Given the description of an element on the screen output the (x, y) to click on. 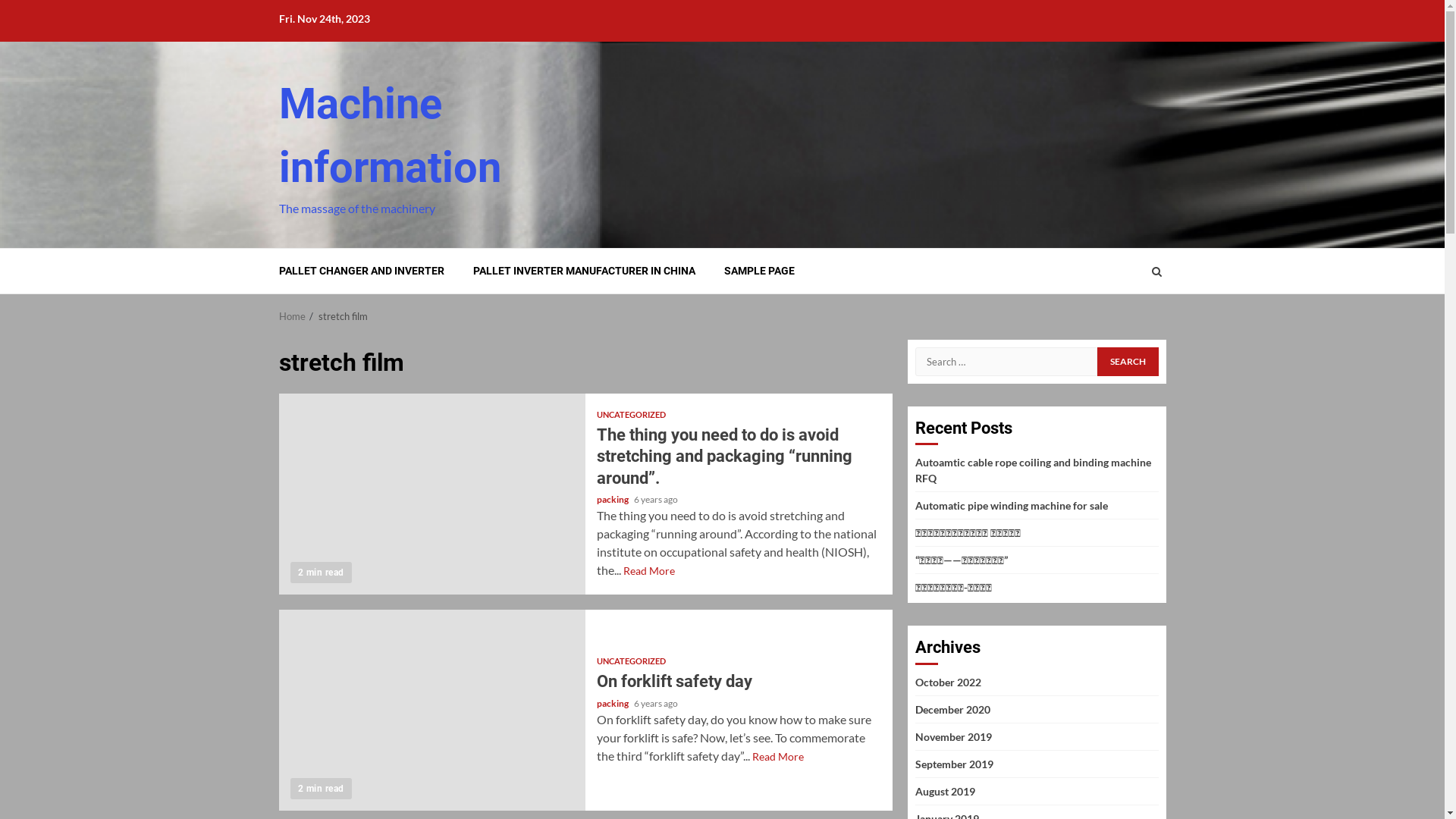
September 2019 Element type: text (953, 763)
packing Element type: text (613, 499)
Machine information Element type: text (390, 135)
Home Element type: text (292, 316)
On forklift safety day Element type: text (674, 680)
Search Element type: text (1127, 361)
On forklift safety day Element type: text (432, 709)
Read More Element type: text (648, 570)
Search Element type: text (1126, 316)
October 2022 Element type: text (947, 681)
Read More Element type: text (777, 755)
SAMPLE PAGE Element type: text (758, 270)
Autoamtic cable rope coiling and binding machine RFQ Element type: text (1032, 469)
December 2020 Element type: text (951, 708)
Search Element type: hover (1155, 270)
PALLET CHANGER AND INVERTER Element type: text (361, 270)
August 2019 Element type: text (944, 790)
packing Element type: text (613, 703)
November 2019 Element type: text (952, 736)
Automatic pipe winding machine for sale Element type: text (1010, 504)
PALLET INVERTER MANUFACTURER IN CHINA Element type: text (584, 270)
UNCATEGORIZED Element type: text (630, 660)
UNCATEGORIZED Element type: text (630, 414)
